Given the description of an element on the screen output the (x, y) to click on. 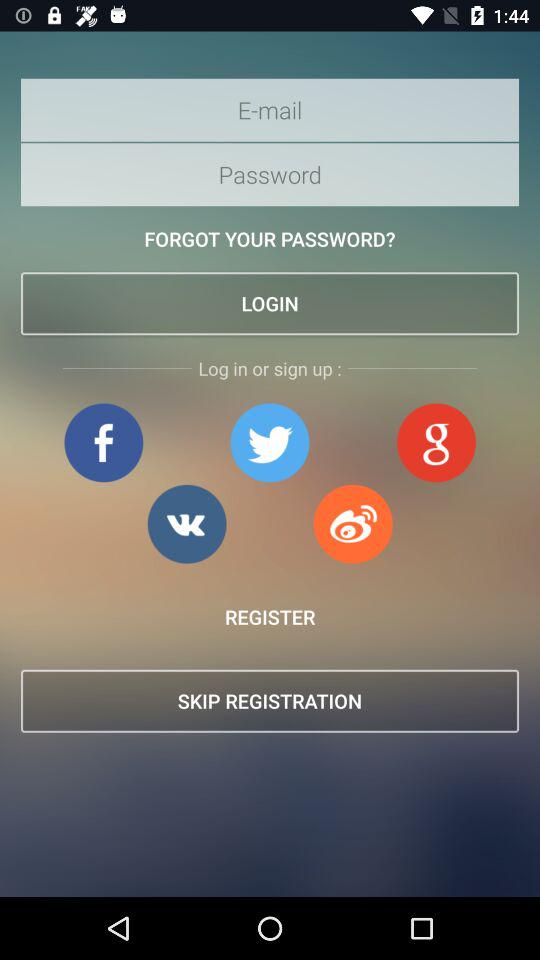
login in with app (353, 523)
